Given the description of an element on the screen output the (x, y) to click on. 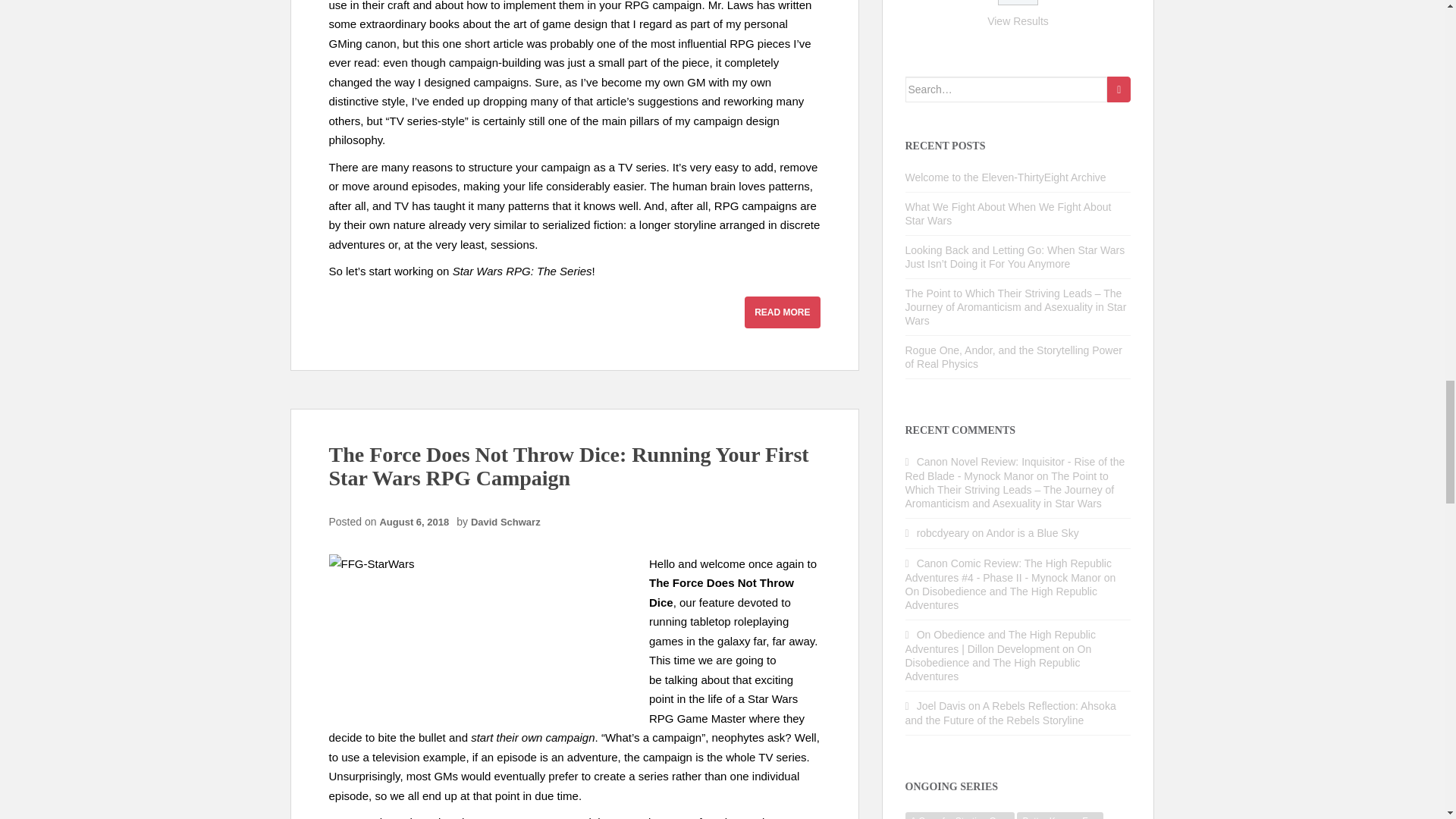
   Vote    (1017, 2)
Posts by David Schwarz (505, 521)
8:00 am (417, 521)
